Given the description of an element on the screen output the (x, y) to click on. 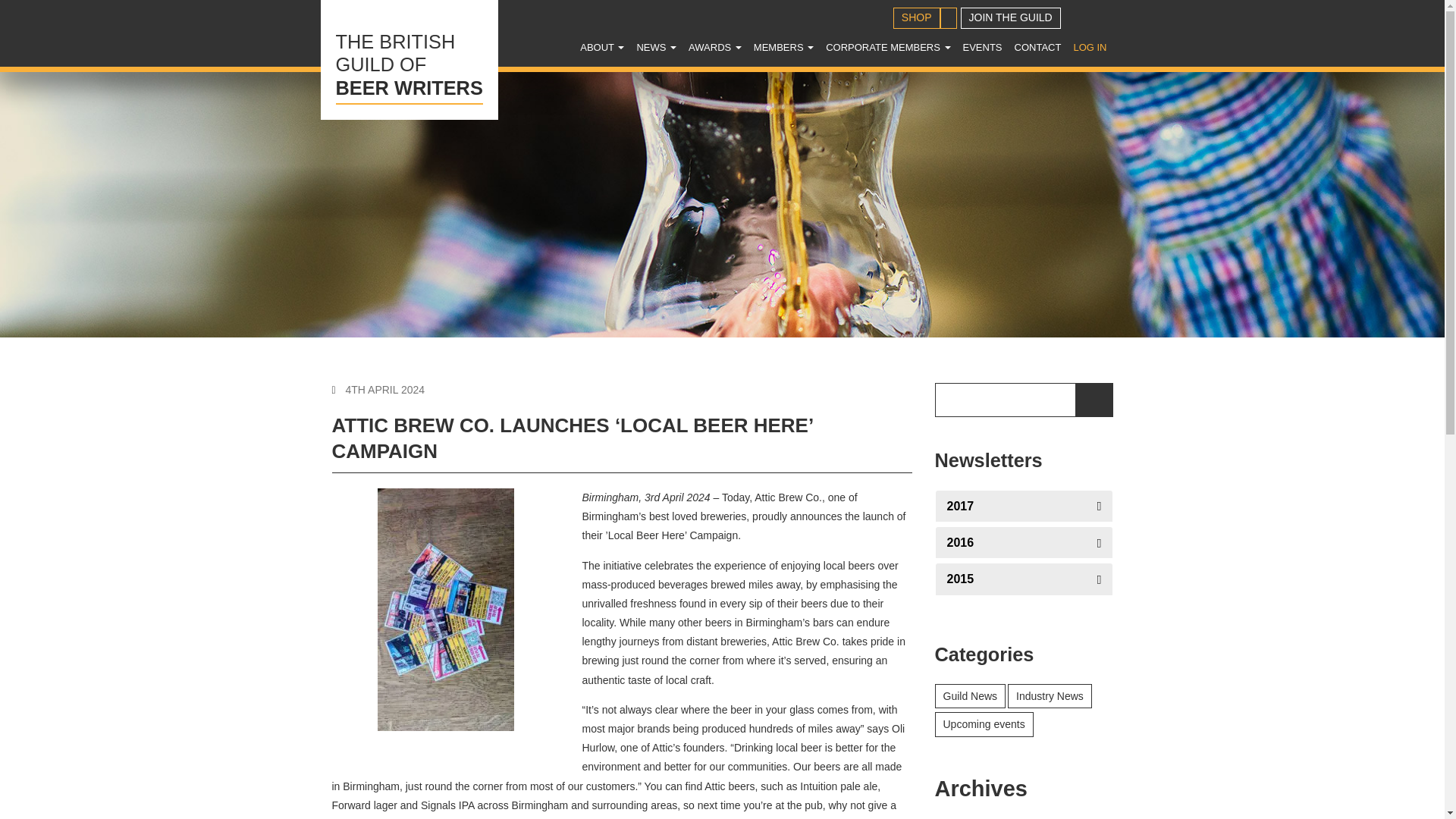
LOG IN (1089, 47)
MEMBERS (783, 47)
About (601, 47)
JOIN THE GUILD (1010, 17)
Awards (715, 47)
SHOP (916, 17)
NEWS (408, 59)
ABOUT (656, 47)
AWARDS (601, 47)
Members (715, 47)
News (783, 47)
CORPORATE MEMBERS (656, 47)
EVENTS (887, 47)
CONTACT (982, 47)
